Given the description of an element on the screen output the (x, y) to click on. 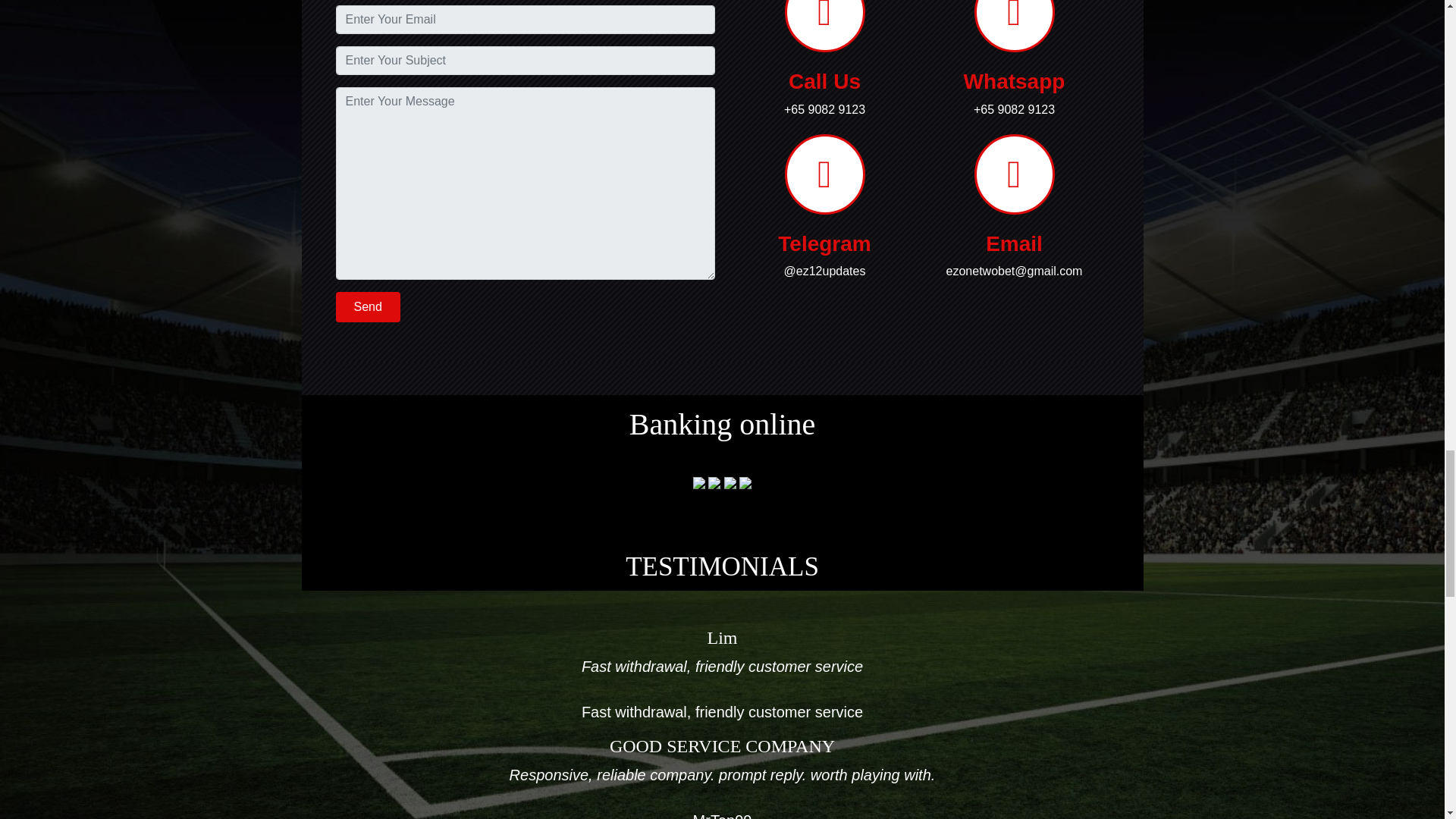
Send (366, 306)
Email (1013, 243)
Send (366, 306)
Whatsapp (1014, 81)
Call Us (824, 81)
Telegram (823, 243)
